Given the description of an element on the screen output the (x, y) to click on. 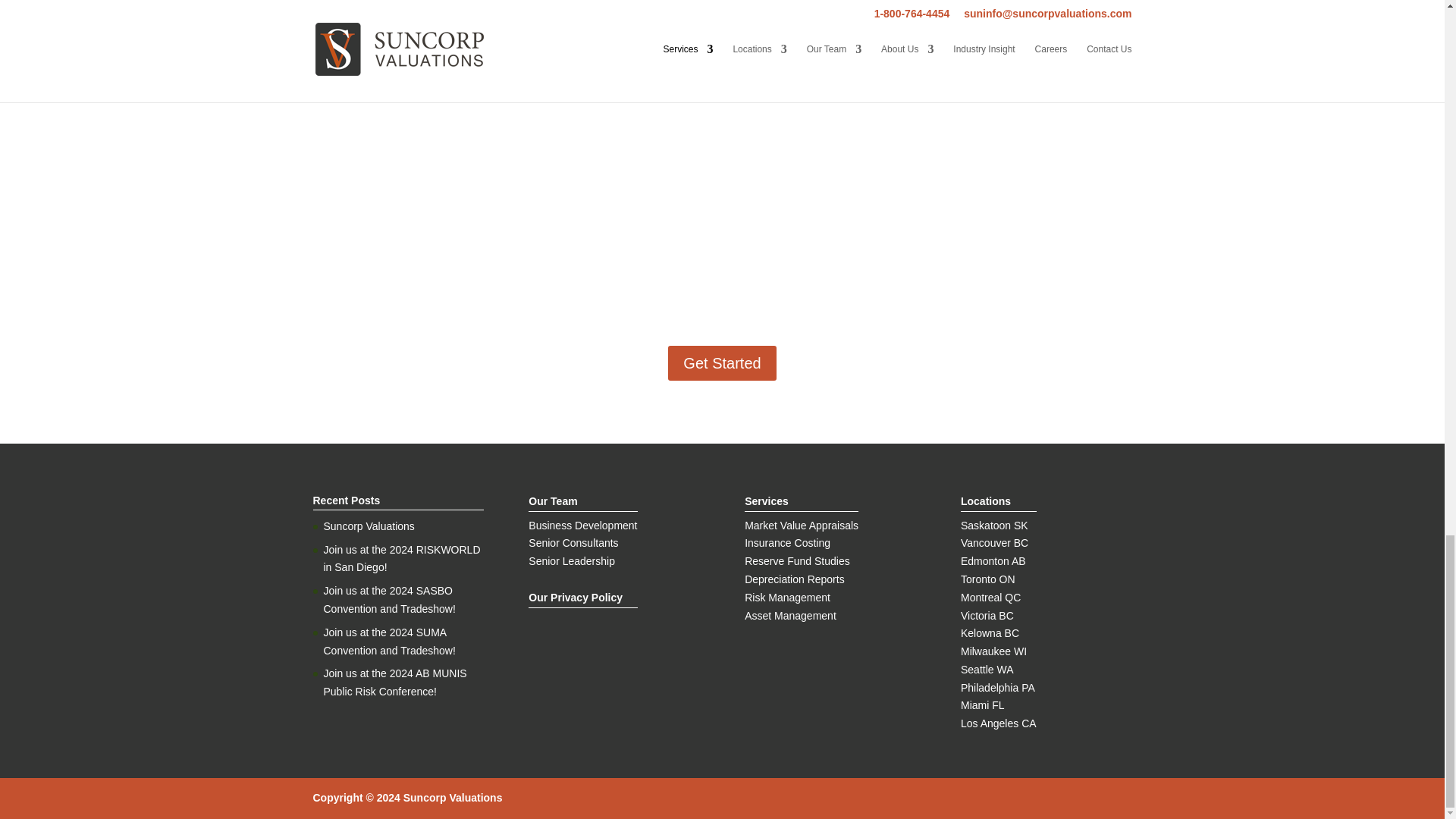
Suncorp Valuations (368, 526)
Suncorp Valuations (407, 797)
Get Started (721, 362)
Join us at the 2024 RISKWORLD in San Diego! (401, 558)
Join us at the 2024 SASBO Convention and Tradeshow! (388, 599)
